Given the description of an element on the screen output the (x, y) to click on. 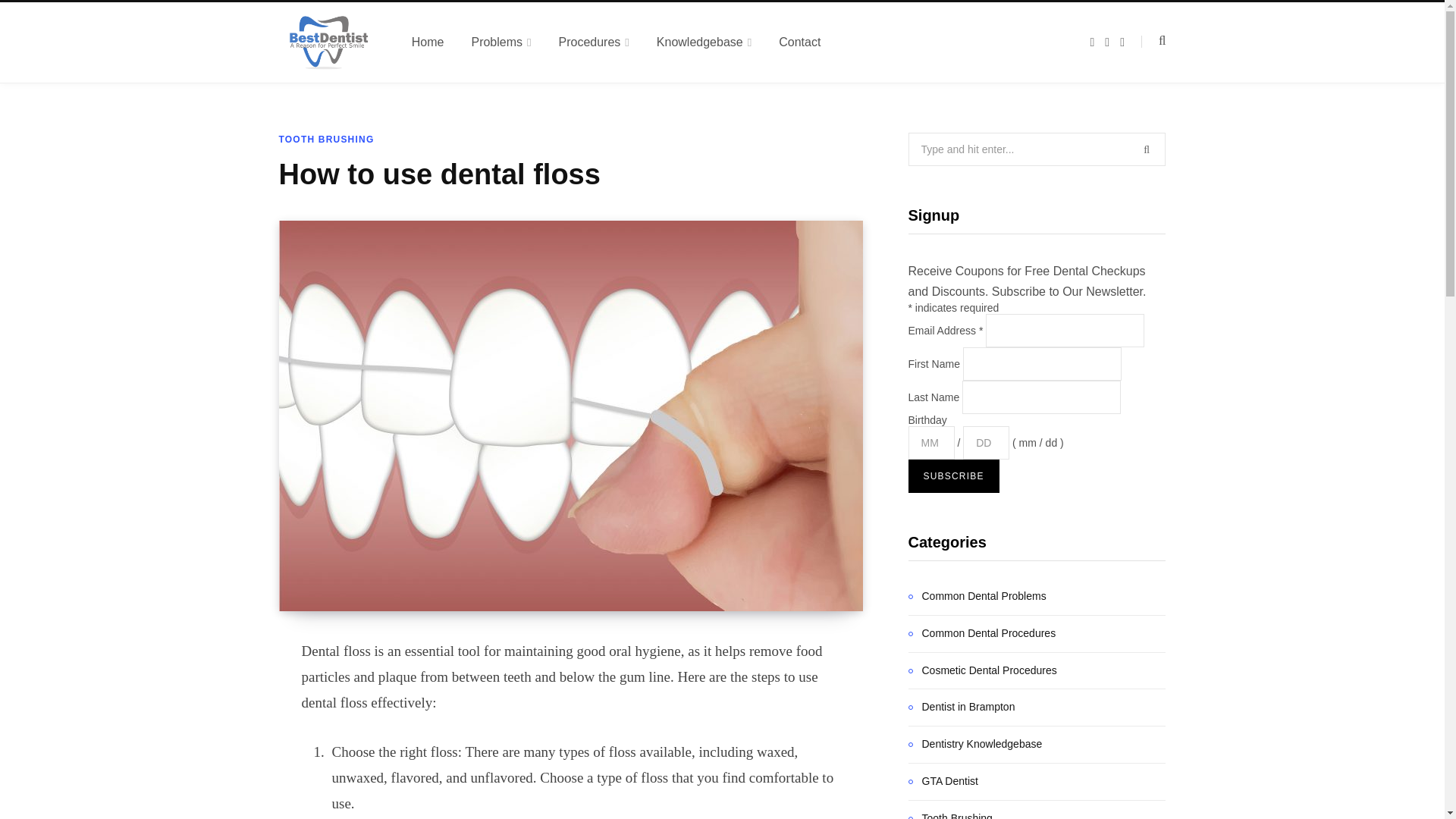
Problems (500, 41)
Best Dentist in Toronto (327, 42)
Procedures (593, 41)
Subscribe (953, 476)
Knowledgebase (704, 41)
Search (1153, 41)
Home (427, 41)
